Given the description of an element on the screen output the (x, y) to click on. 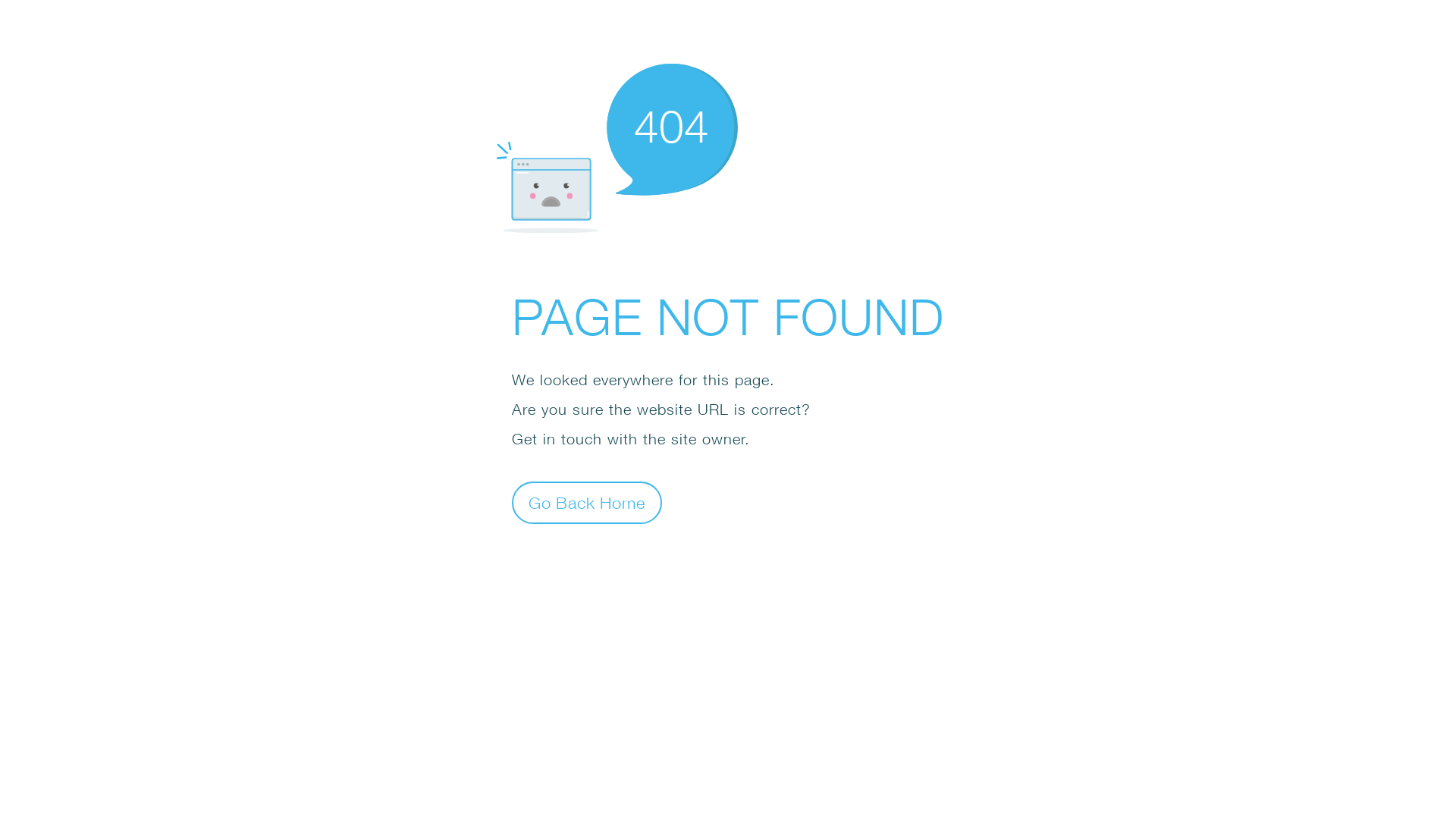
Go Back Home Element type: text (586, 502)
